Given the description of an element on the screen output the (x, y) to click on. 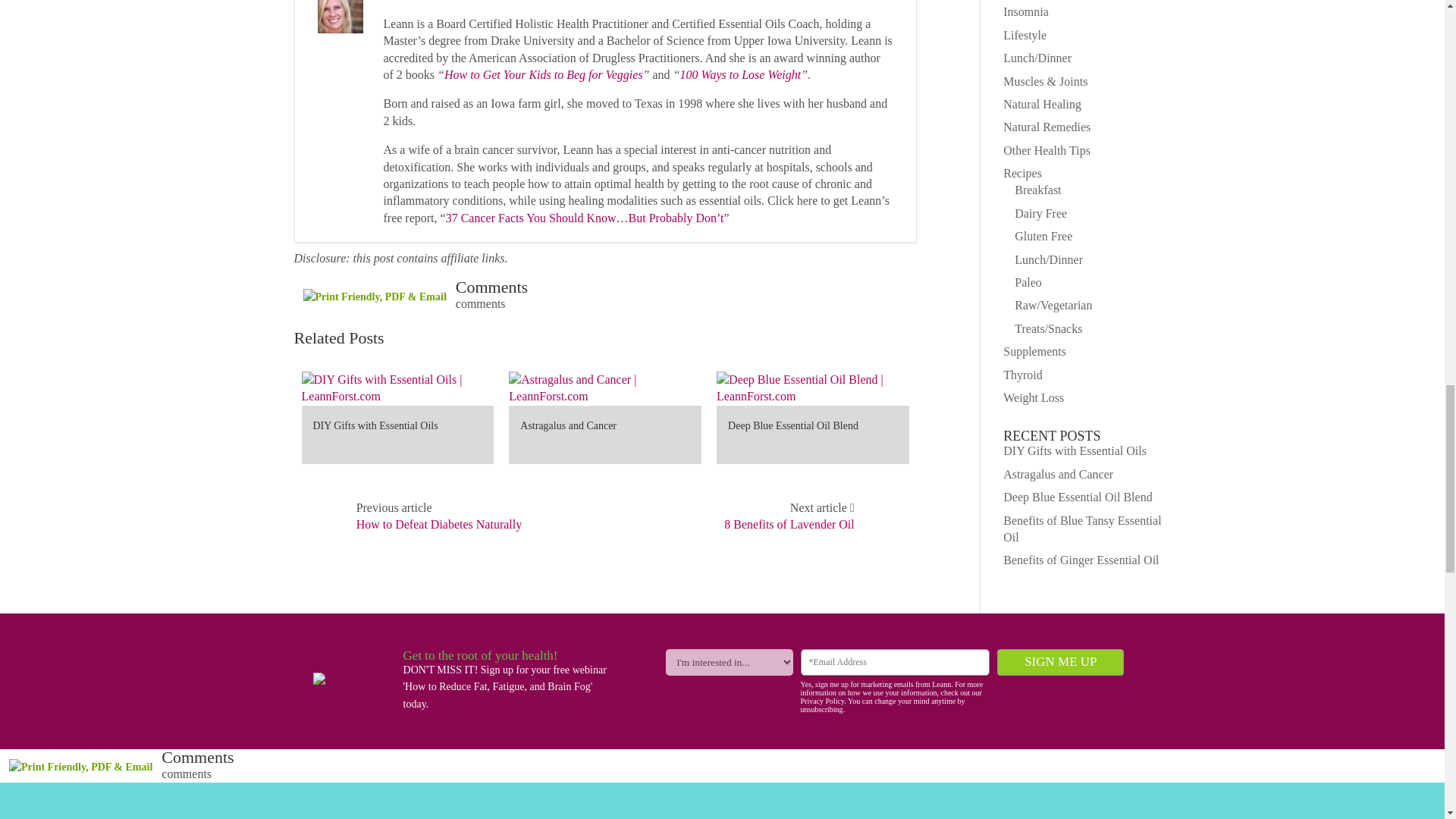
Astragalus and Cancer (604, 395)
SIGN ME UP (1060, 662)
Deep Blue Essential Oil Blend (812, 395)
Deep Blue Essential Oil Blend (793, 425)
DIY Gifts with Essential Oils (398, 395)
Astragalus and Cancer (567, 425)
DIY Gifts with Essential Oils (375, 425)
